Given the description of an element on the screen output the (x, y) to click on. 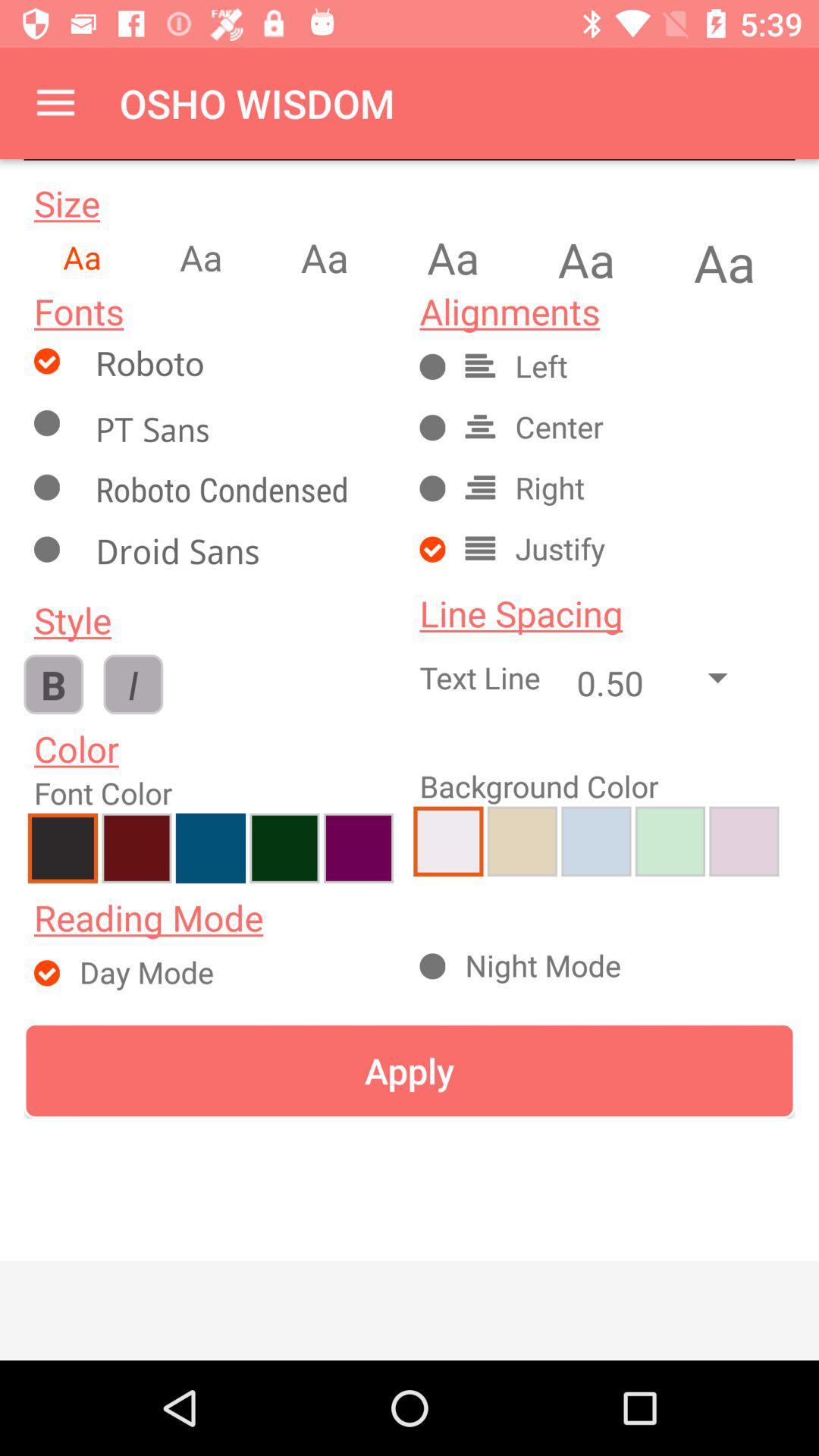
select roboto condensed font (239, 492)
